Given the description of an element on the screen output the (x, y) to click on. 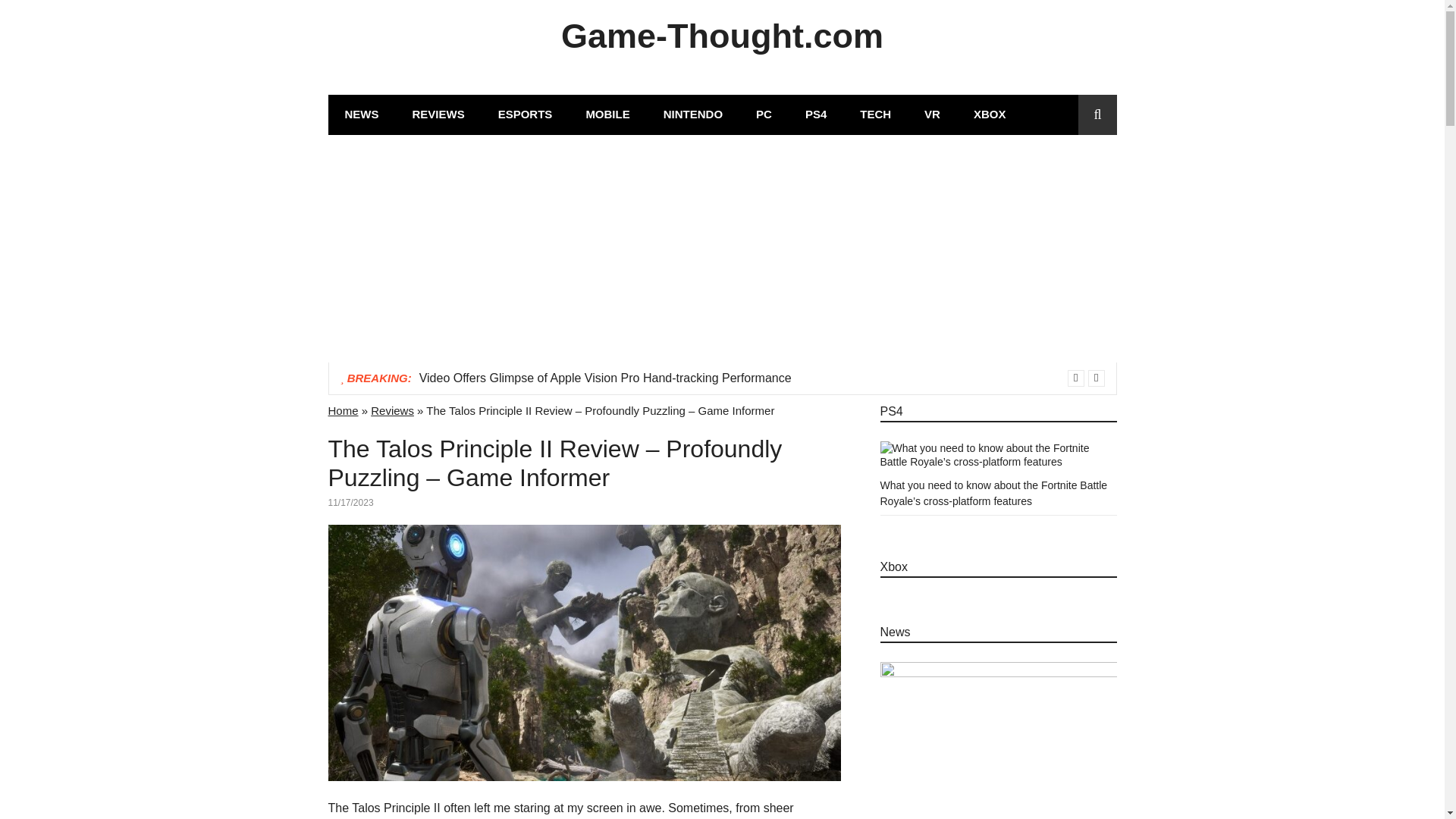
XBOX (989, 115)
PC (764, 115)
REVIEWS (438, 115)
ESPORTS (525, 115)
NEWS (360, 115)
TECH (875, 115)
Reviews (392, 409)
Home (342, 409)
